Given the description of an element on the screen output the (x, y) to click on. 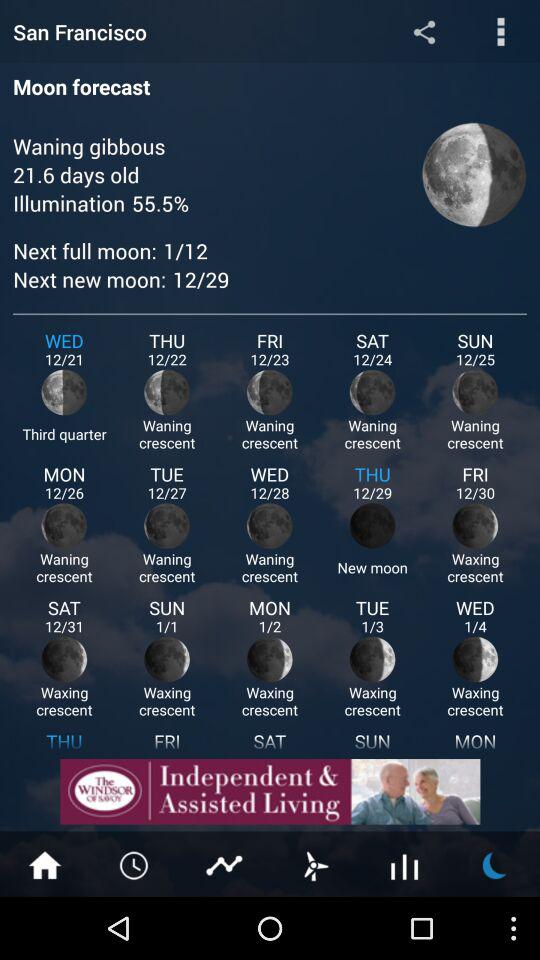
go home (45, 864)
